Given the description of an element on the screen output the (x, y) to click on. 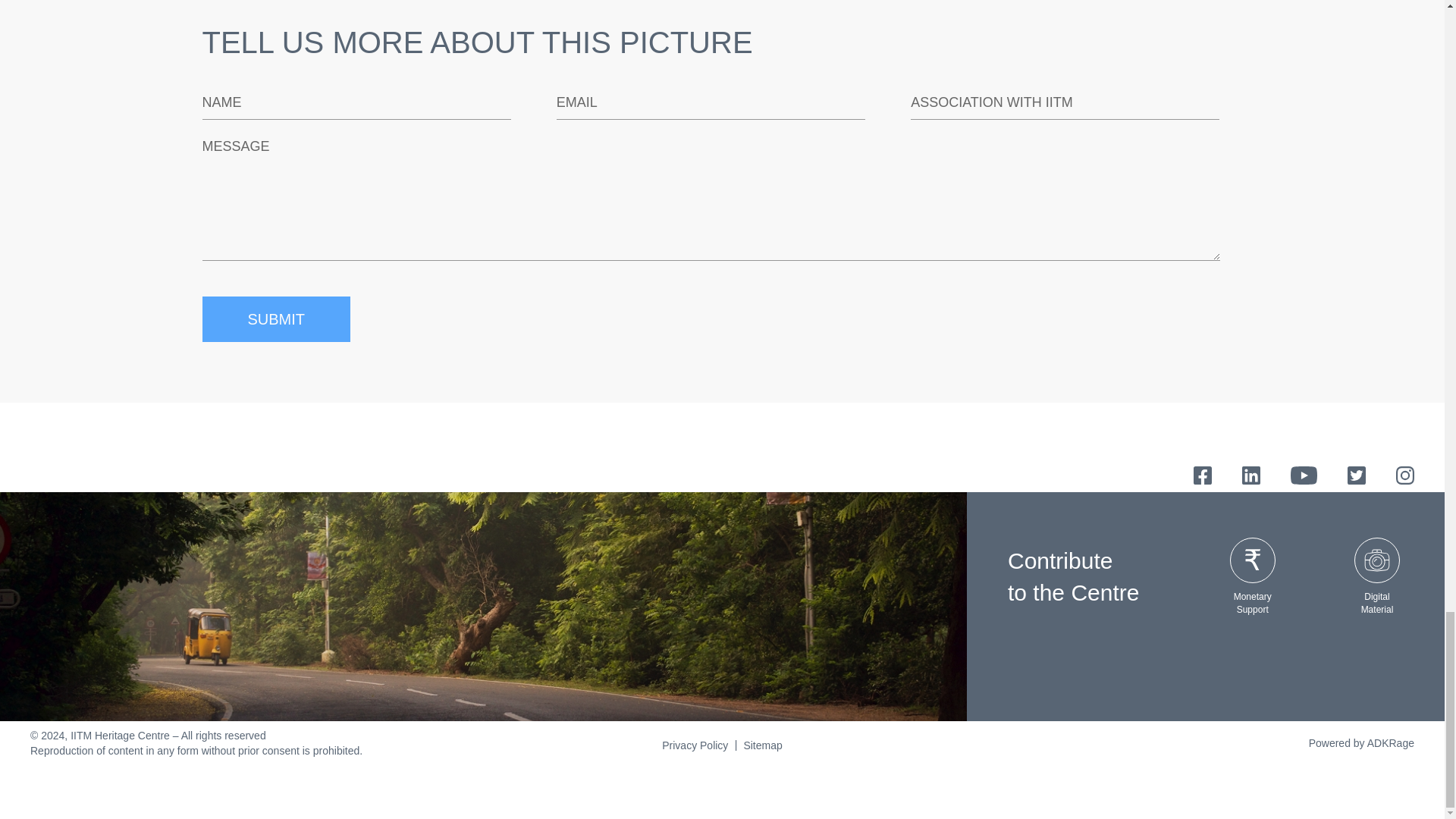
SUBMIT (276, 319)
